Given the description of an element on the screen output the (x, y) to click on. 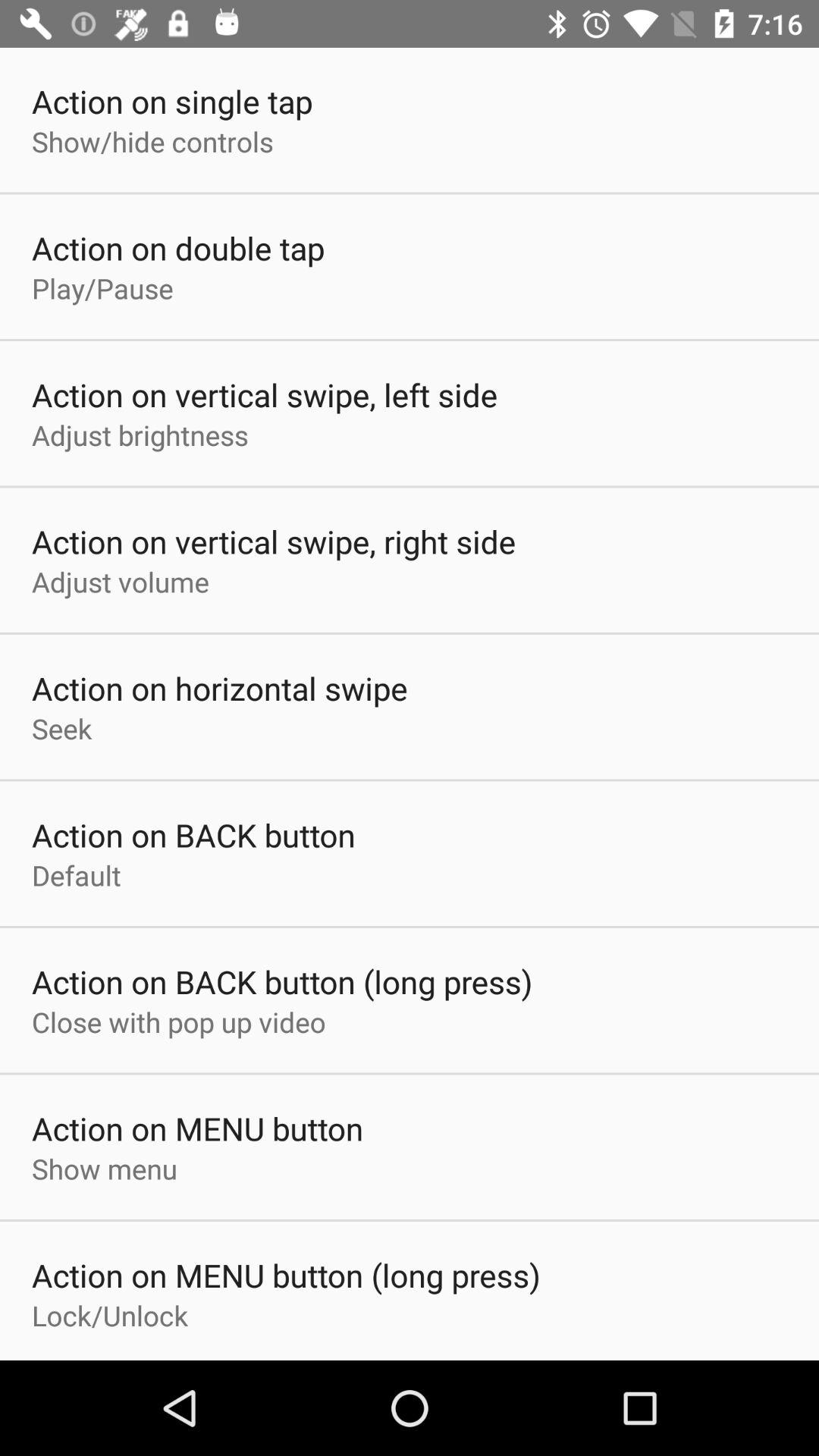
scroll to lock/unlock (109, 1315)
